Given the description of an element on the screen output the (x, y) to click on. 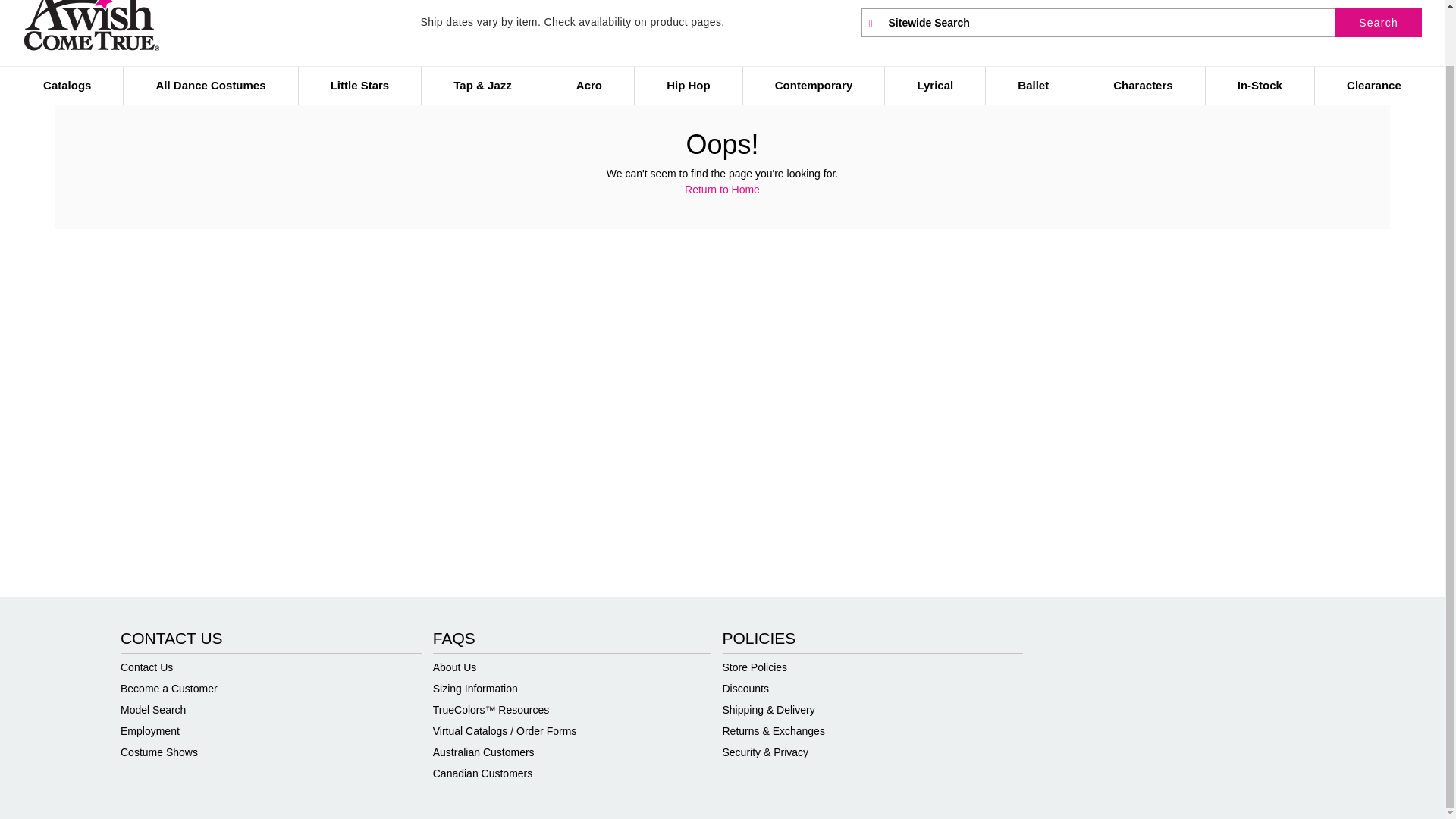
All Dance Costumes (210, 85)
Search (1098, 22)
Catalogs (66, 85)
Search (1378, 22)
Search (1378, 22)
Catalogs (66, 85)
